Given the description of an element on the screen output the (x, y) to click on. 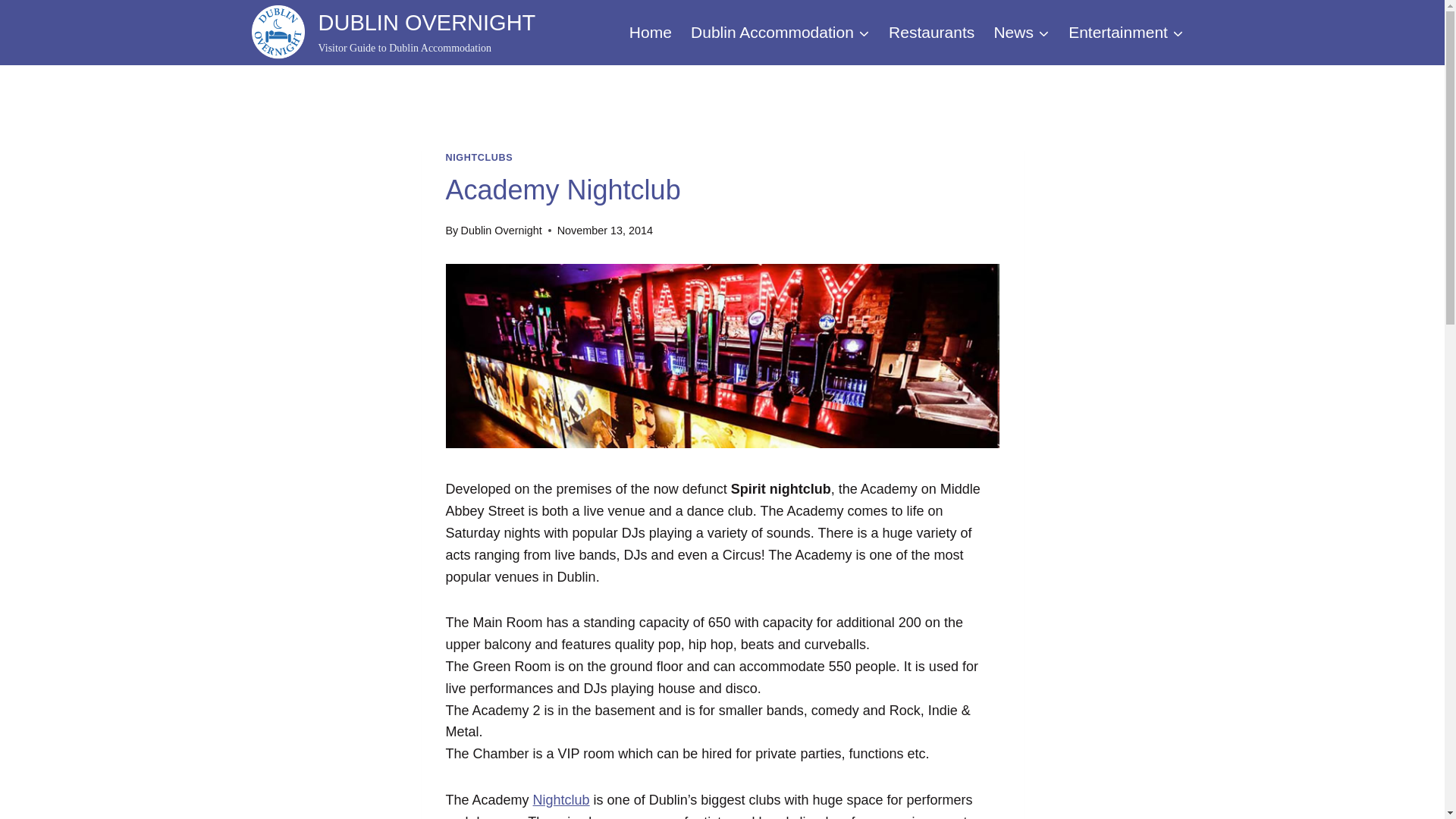
Dublin Overnight (500, 230)
Nightclub (393, 31)
Nightclubs (560, 799)
Home (560, 799)
News (650, 32)
NIGHTCLUBS (1021, 32)
Restaurants (479, 157)
Dublin Accommodation (931, 32)
Entertainment (780, 32)
